Given the description of an element on the screen output the (x, y) to click on. 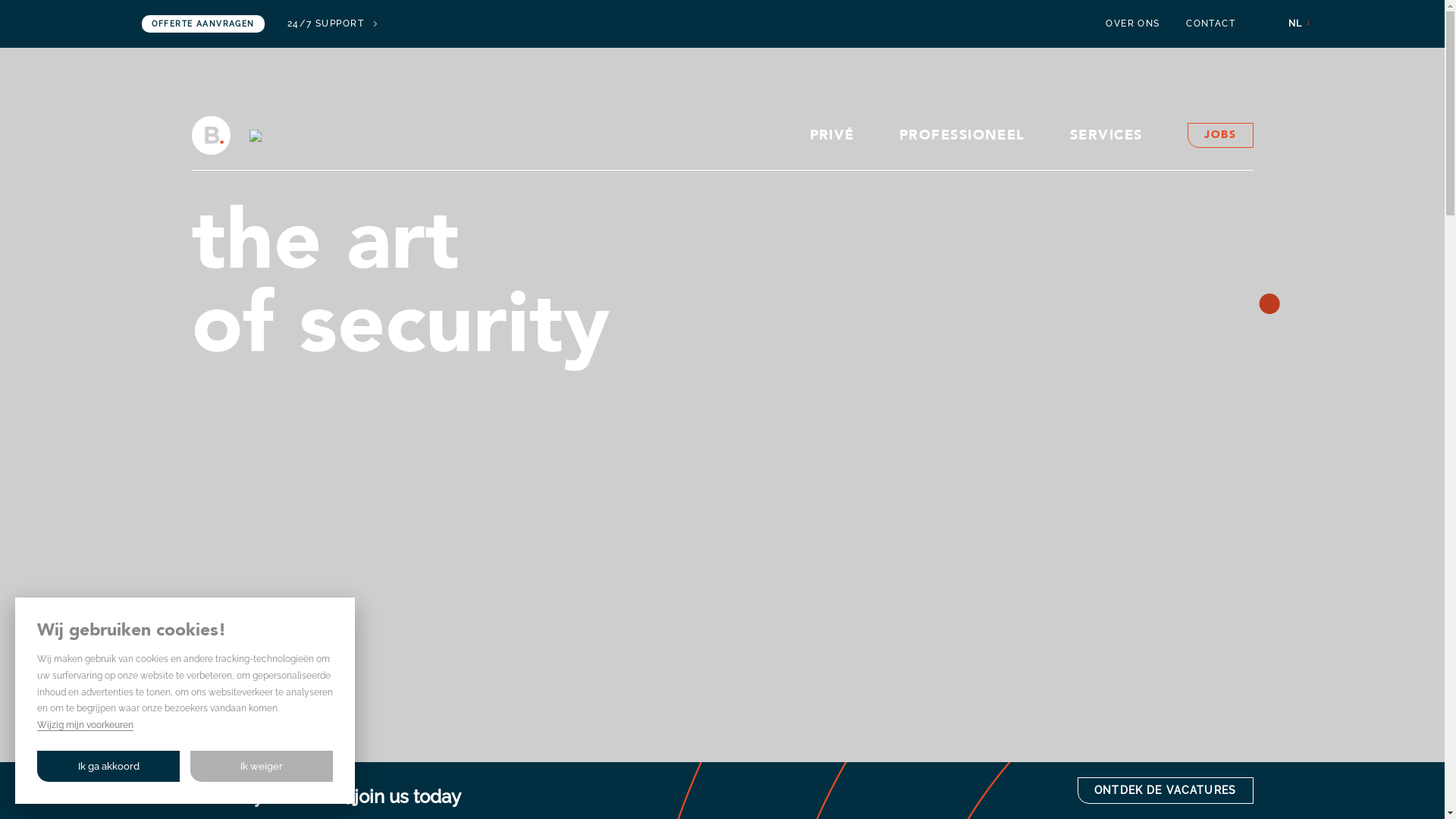
ONTDEK DE VACATURES Element type: text (1165, 790)
JOBS Element type: text (1220, 134)
24/7 SUPPORT Element type: text (331, 23)
Ik weiger Element type: text (261, 765)
Ik ga akkoord Element type: text (108, 765)
OVER ONS Element type: text (1132, 23)
OFFERTE AANVRAGEN Element type: text (202, 23)
CONTACT Element type: text (1210, 23)
PROFESSIONEEL Element type: text (962, 135)
SERVICES Element type: text (1106, 135)
Wijzig mijn voorkeuren Element type: text (85, 725)
